Given the description of an element on the screen output the (x, y) to click on. 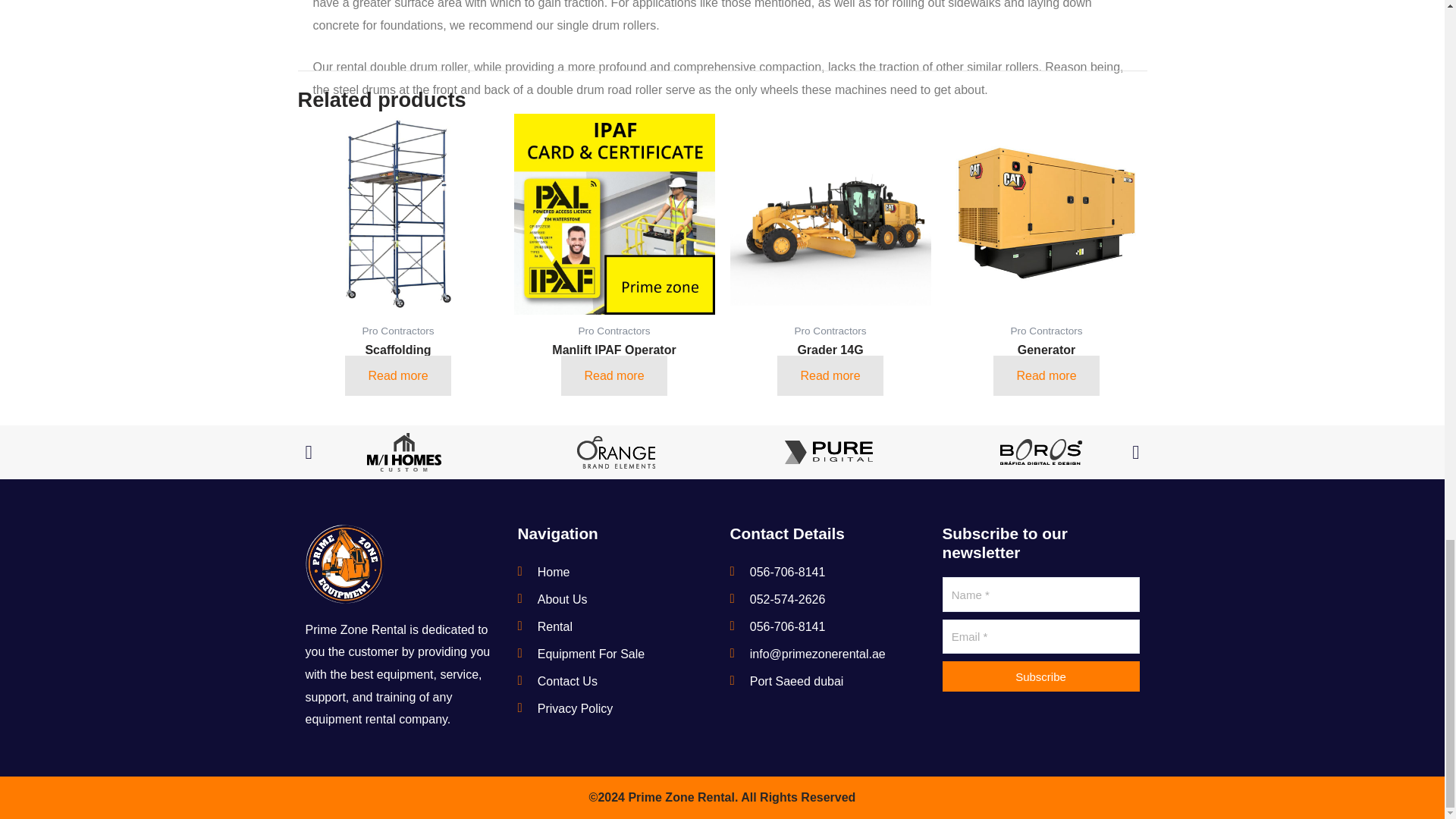
Generator (1046, 362)
Grader 14G (829, 362)
Read more (829, 375)
Read more (1045, 375)
Manlift IPAF Operator (613, 362)
Read more (613, 375)
Read more (397, 375)
Scaffolding (397, 362)
